Given the description of an element on the screen output the (x, y) to click on. 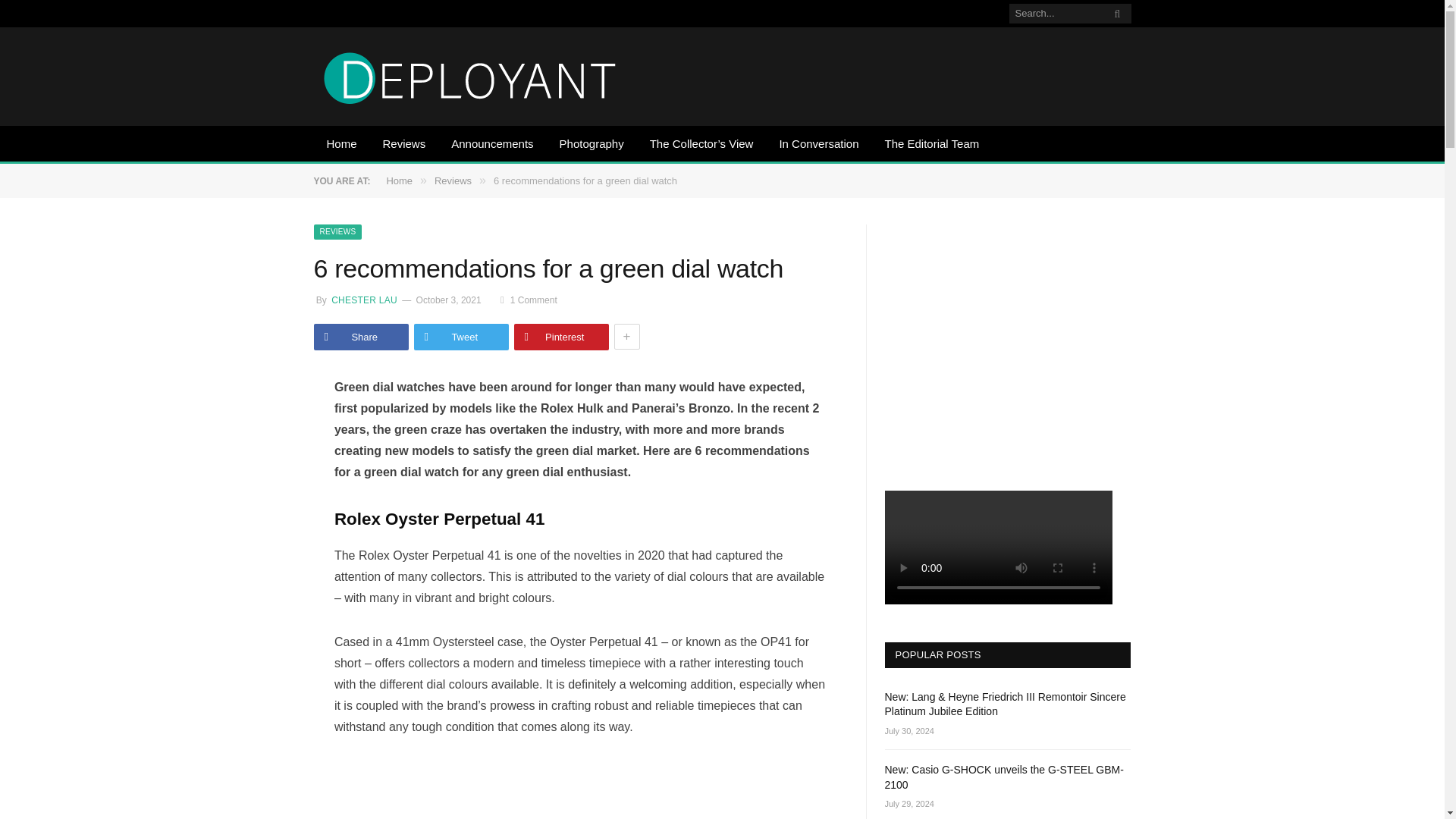
DEPLOYANT (470, 75)
Reviews (452, 180)
REVIEWS (338, 231)
CHESTER LAU (363, 299)
Tweet (460, 336)
Home (398, 180)
Share (361, 336)
1 Comment (528, 299)
In Conversation (817, 144)
Photography (592, 144)
Home (341, 144)
Pinterest (560, 336)
Reviews (404, 144)
Announcements (492, 144)
The Editorial Team (930, 144)
